Given the description of an element on the screen output the (x, y) to click on. 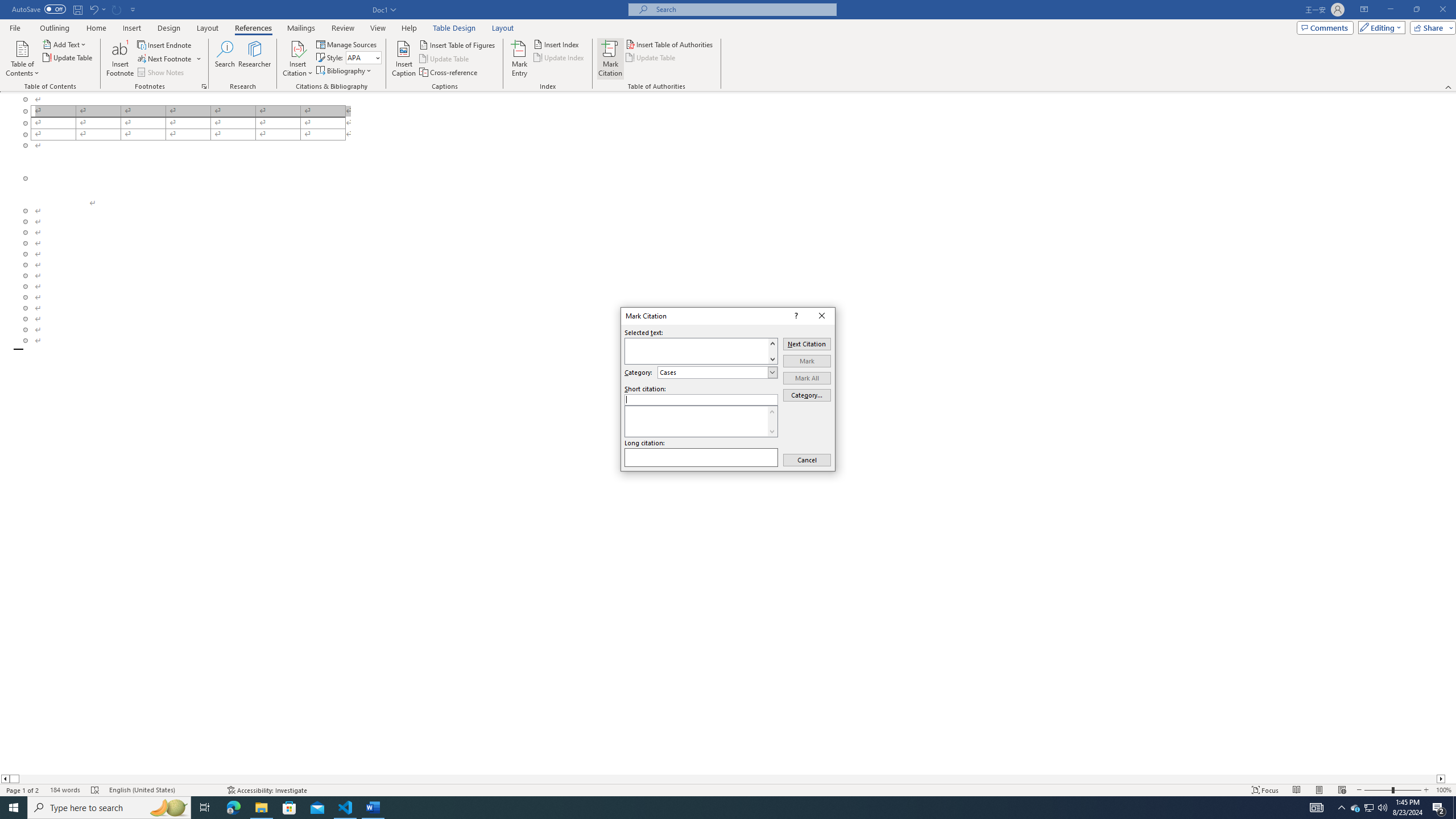
Next Citation (807, 343)
Editing (1379, 27)
Table of Contents (22, 58)
Cross-reference... (448, 72)
Insert Table of Figures... (458, 44)
Undo Outline Move Up (96, 9)
Mark (807, 360)
